Given the description of an element on the screen output the (x, y) to click on. 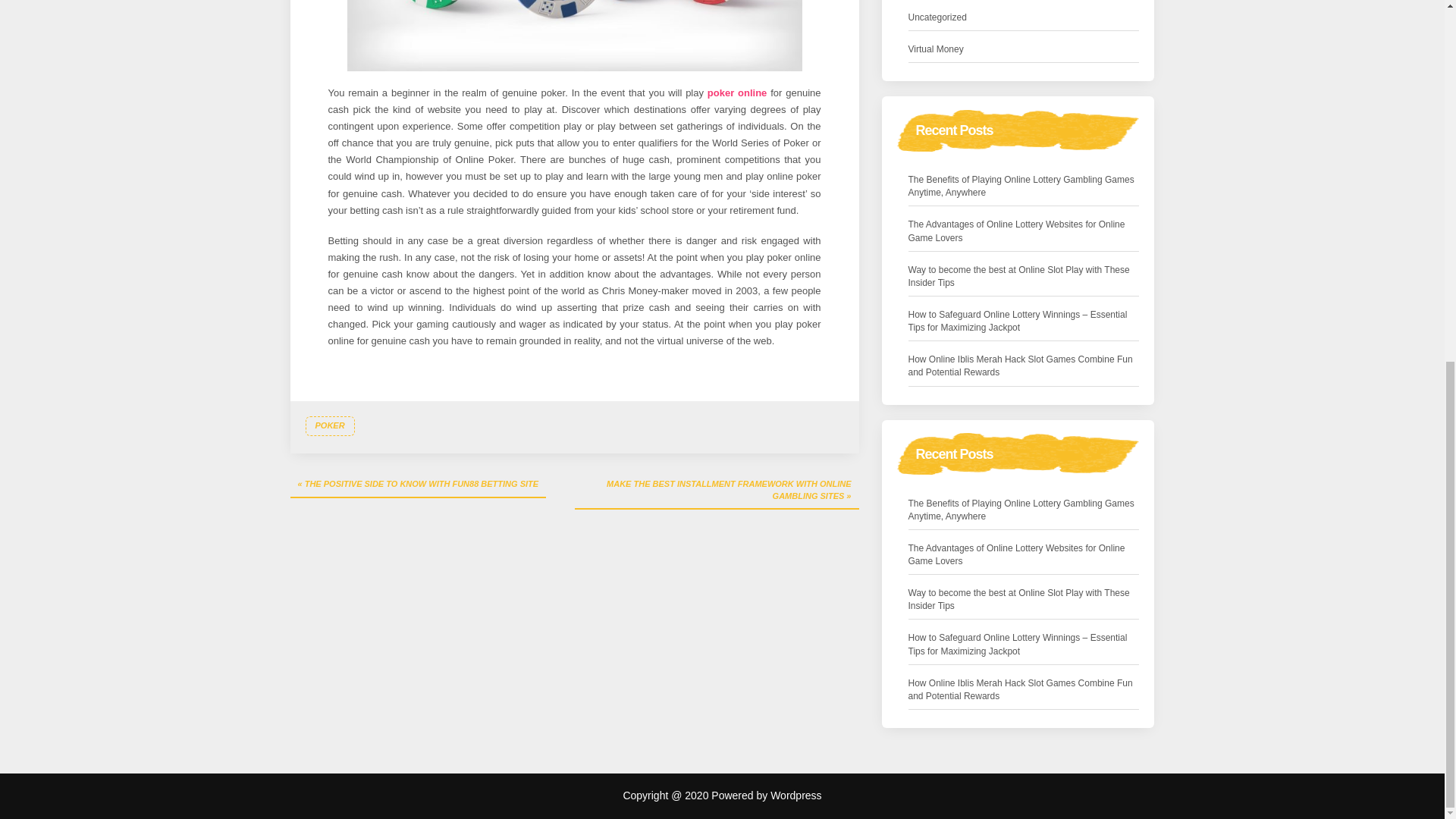
THE POSITIVE SIDE TO KNOW WITH FUN88 BETTING SITE (417, 484)
Uncategorized (937, 17)
POKER (328, 425)
Virtual Money (935, 49)
